Given the description of an element on the screen output the (x, y) to click on. 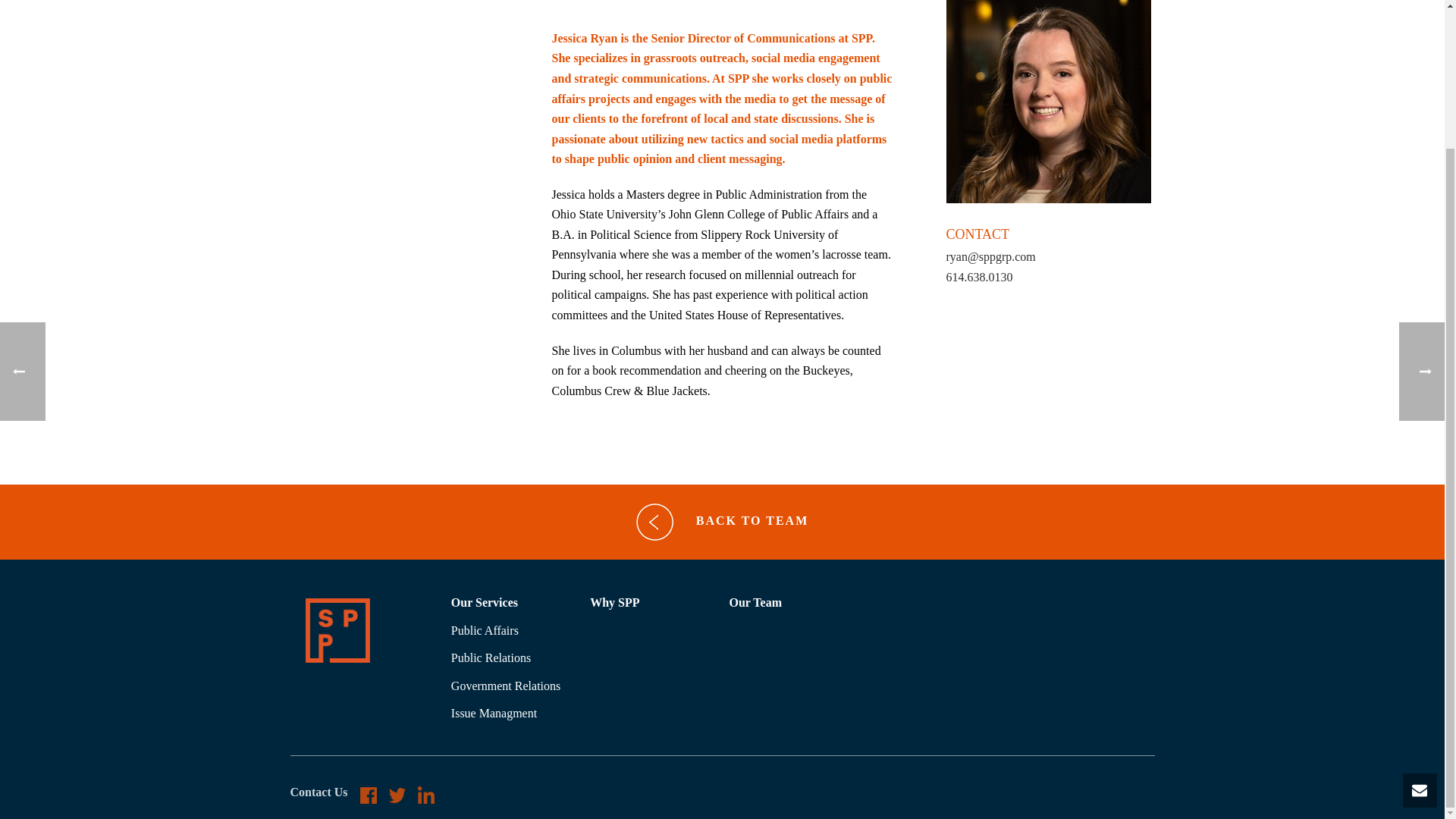
Jessica Ryan (1048, 101)
icon-three-people (336, 630)
